Given the description of an element on the screen output the (x, y) to click on. 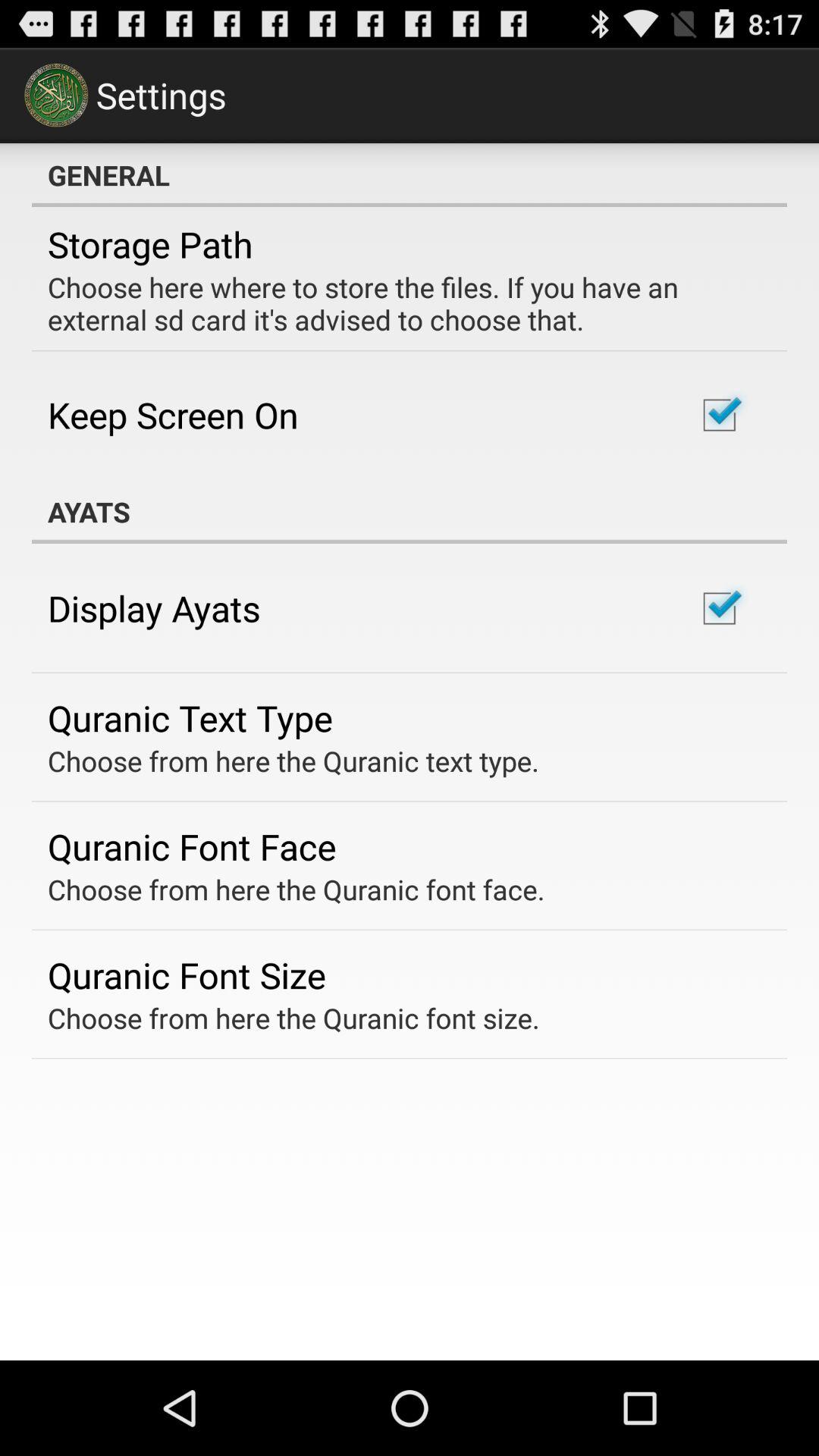
launch the storage path app (150, 244)
